Given the description of an element on the screen output the (x, y) to click on. 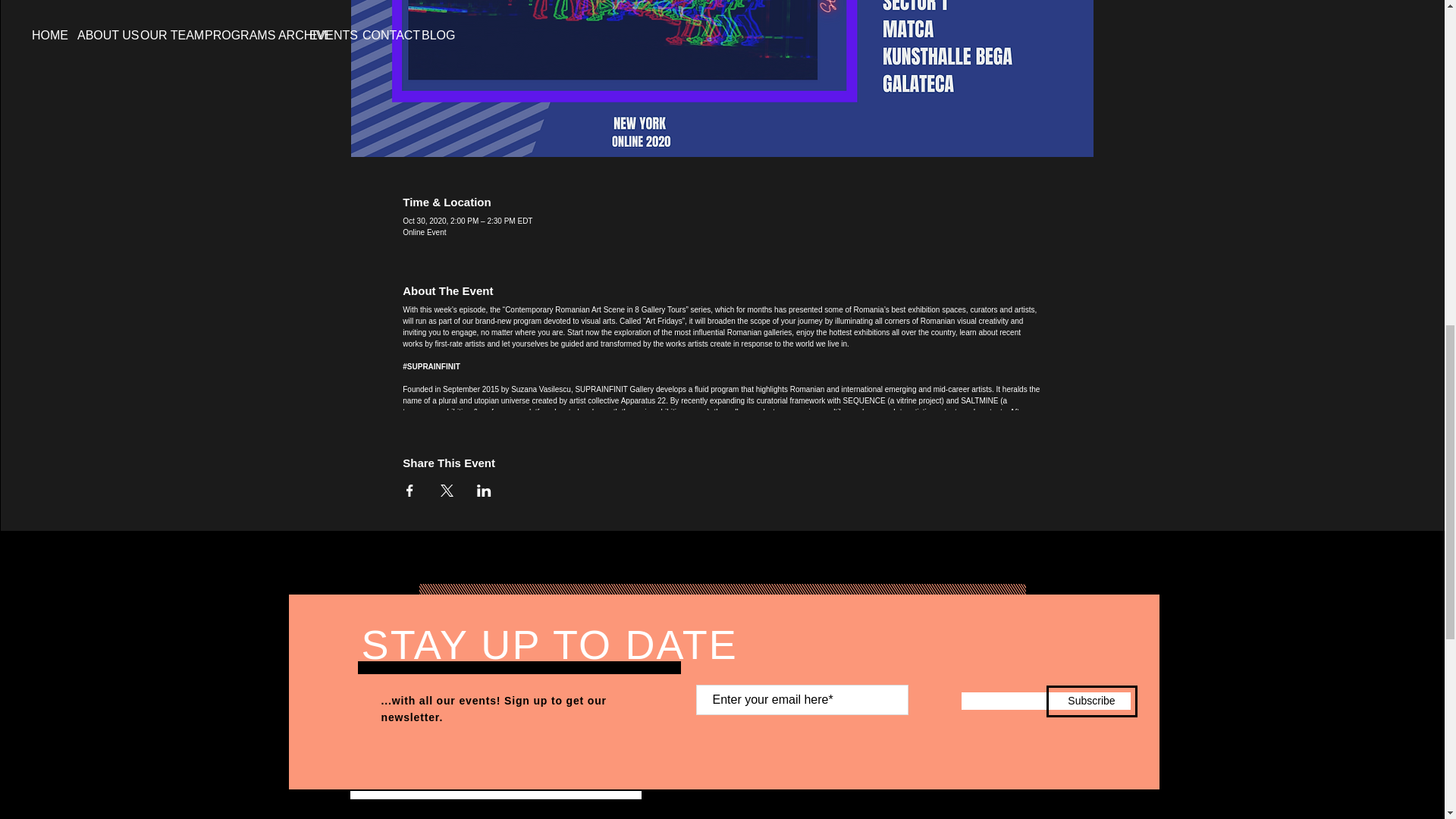
Subscribe (1091, 701)
